Given the description of an element on the screen output the (x, y) to click on. 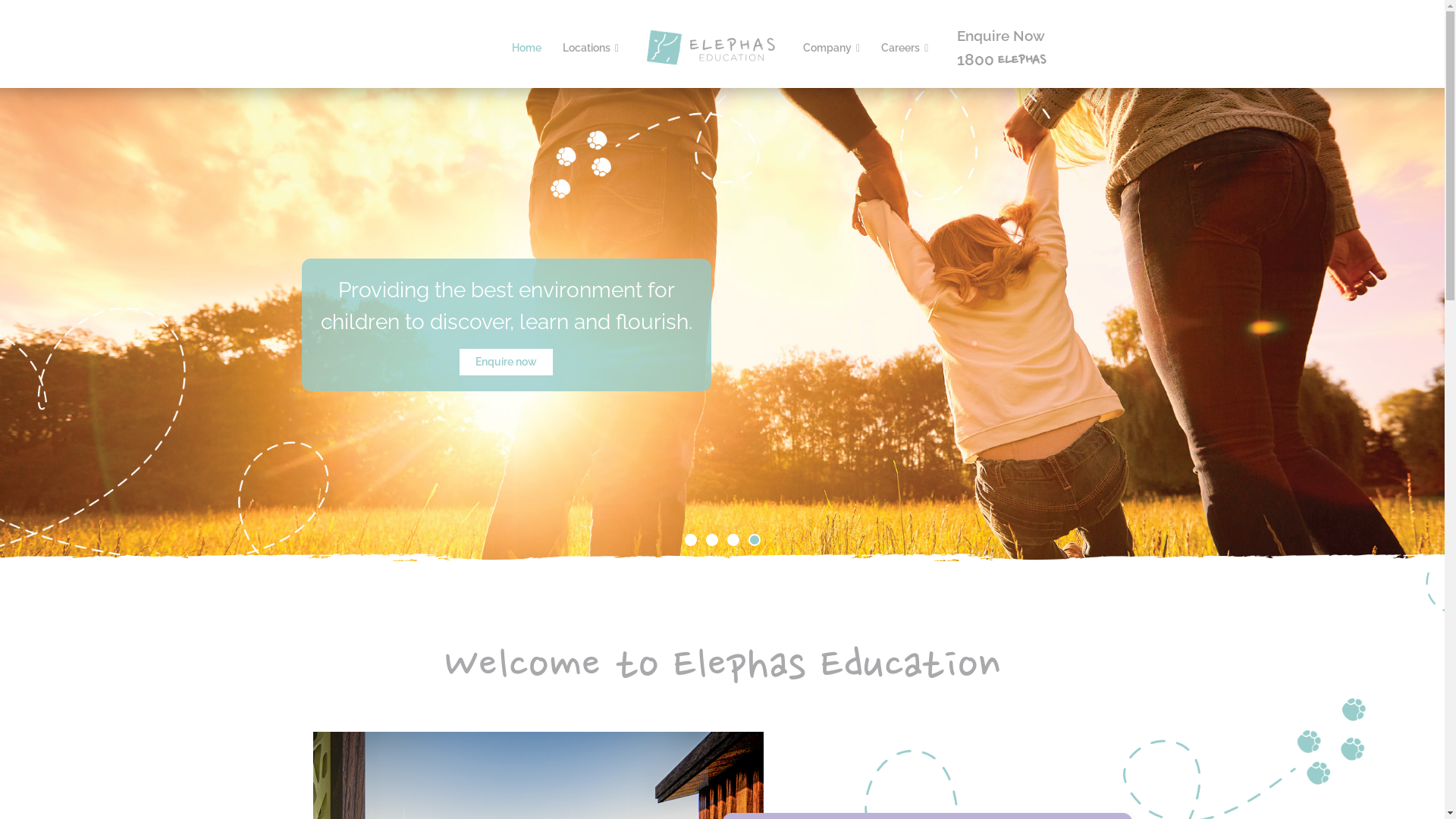
Enquire now Element type: text (505, 361)
2 Element type: text (711, 539)
1 Element type: text (690, 539)
Enquire Now Element type: text (1000, 34)
3 Element type: text (732, 539)
Home Element type: text (526, 47)
Careers Element type: text (904, 47)
Company Element type: text (831, 47)
Locations Element type: text (590, 47)
1800 ELEPHAS Element type: text (1001, 59)
4 Element type: text (753, 539)
